Given the description of an element on the screen output the (x, y) to click on. 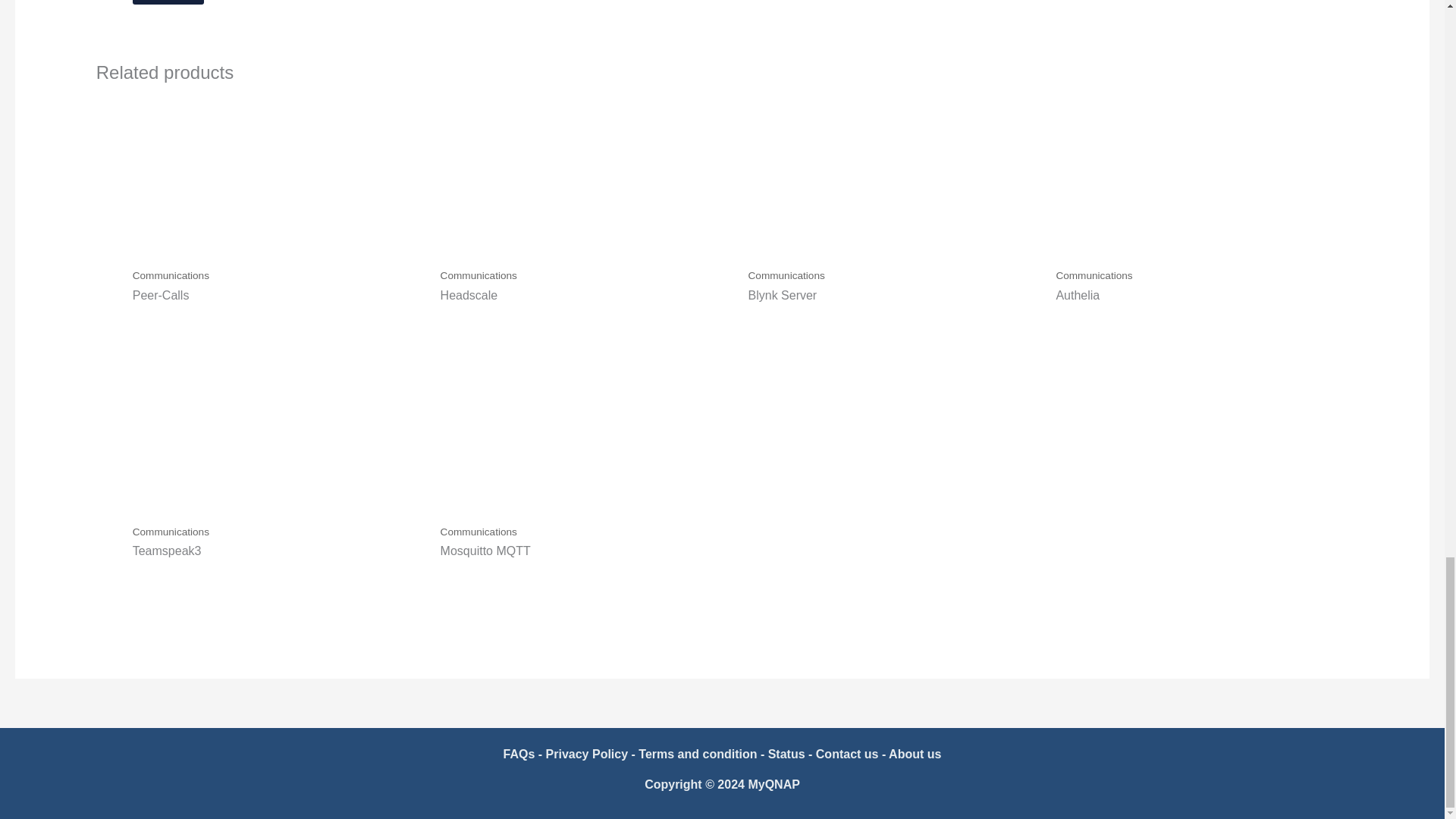
Peer-Calls (278, 295)
Submit (167, 2)
Submit (167, 2)
